Given the description of an element on the screen output the (x, y) to click on. 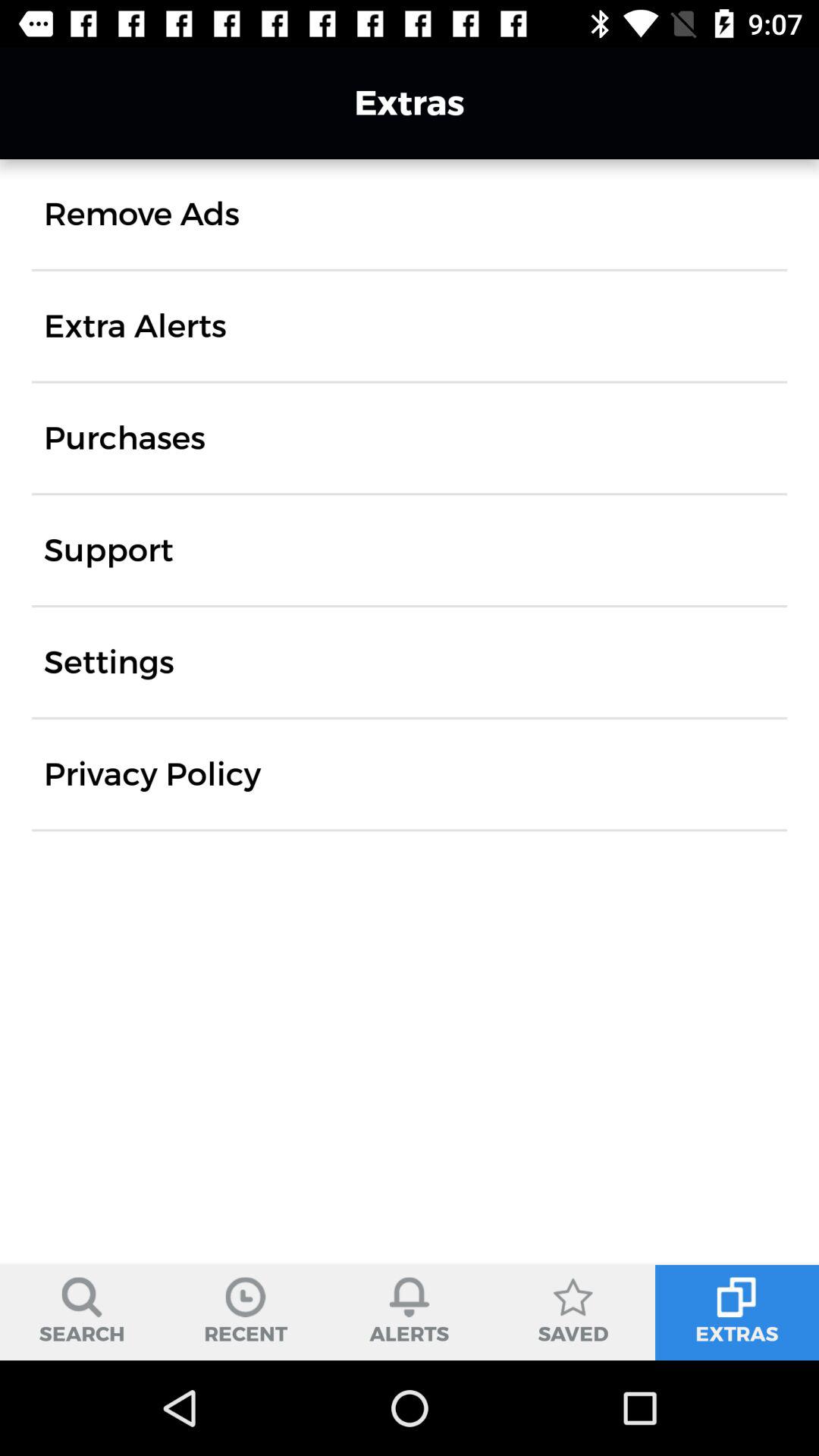
press the purchases (124, 438)
